Given the description of an element on the screen output the (x, y) to click on. 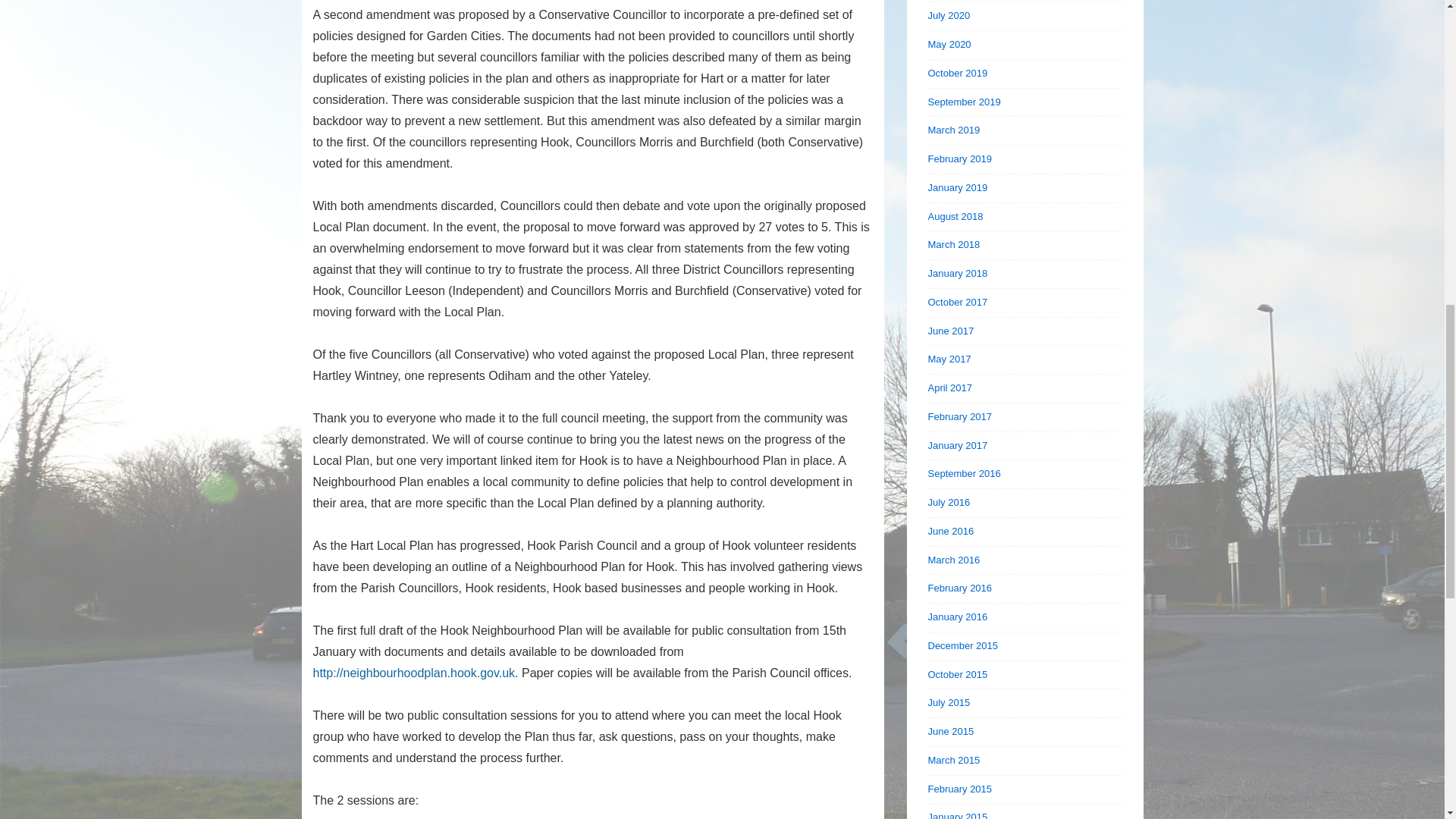
May 2020 (949, 43)
July 2020 (949, 15)
October 2019 (958, 72)
September 2019 (964, 101)
